Given the description of an element on the screen output the (x, y) to click on. 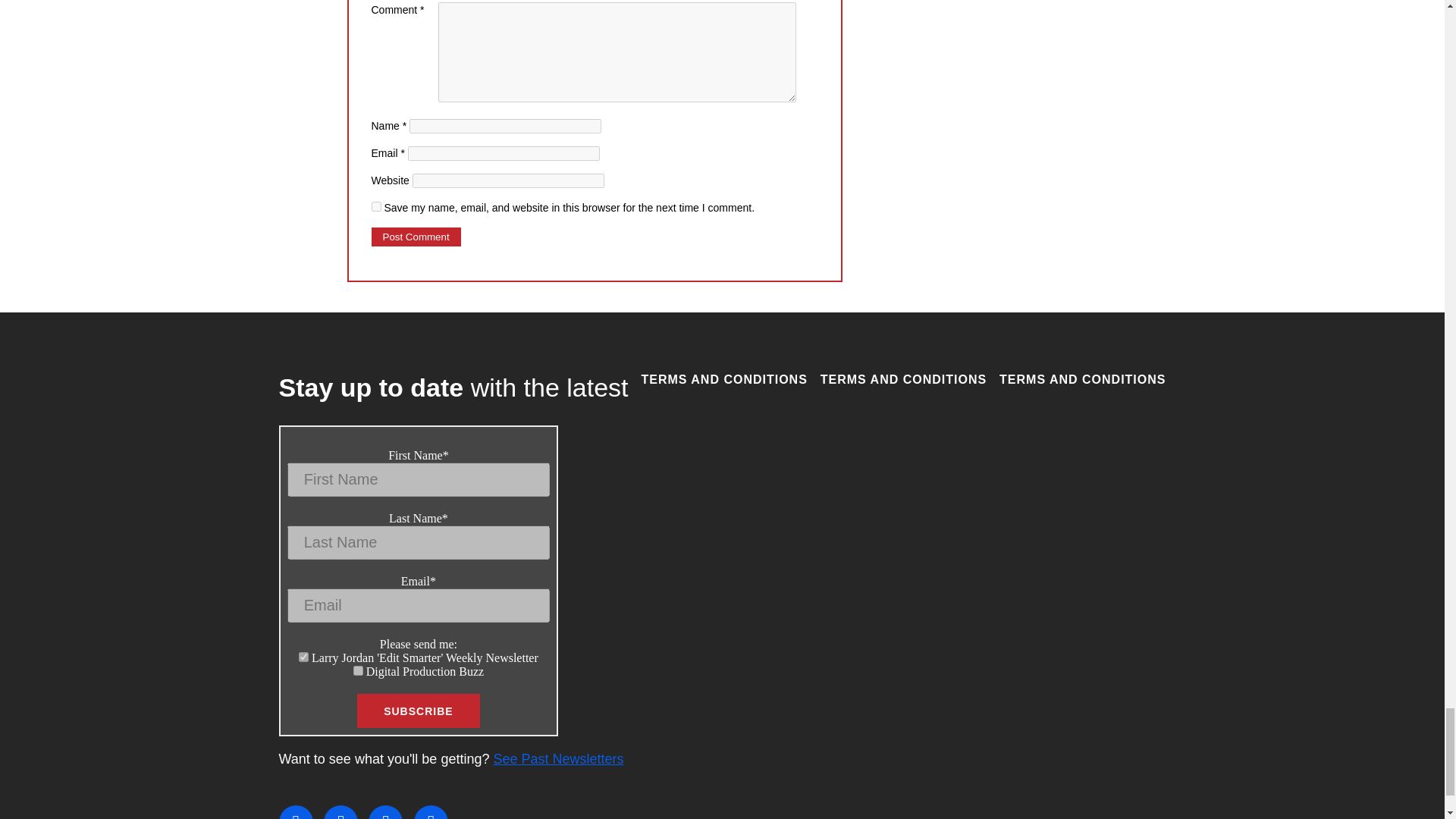
Larry Jordan 'Edit Smarter' Weekly Newsletter (303, 656)
Post Comment (416, 236)
SUBSCRIBE (417, 710)
yes (376, 206)
Digital Production Buzz (357, 670)
Post Comment (416, 236)
